Given the description of an element on the screen output the (x, y) to click on. 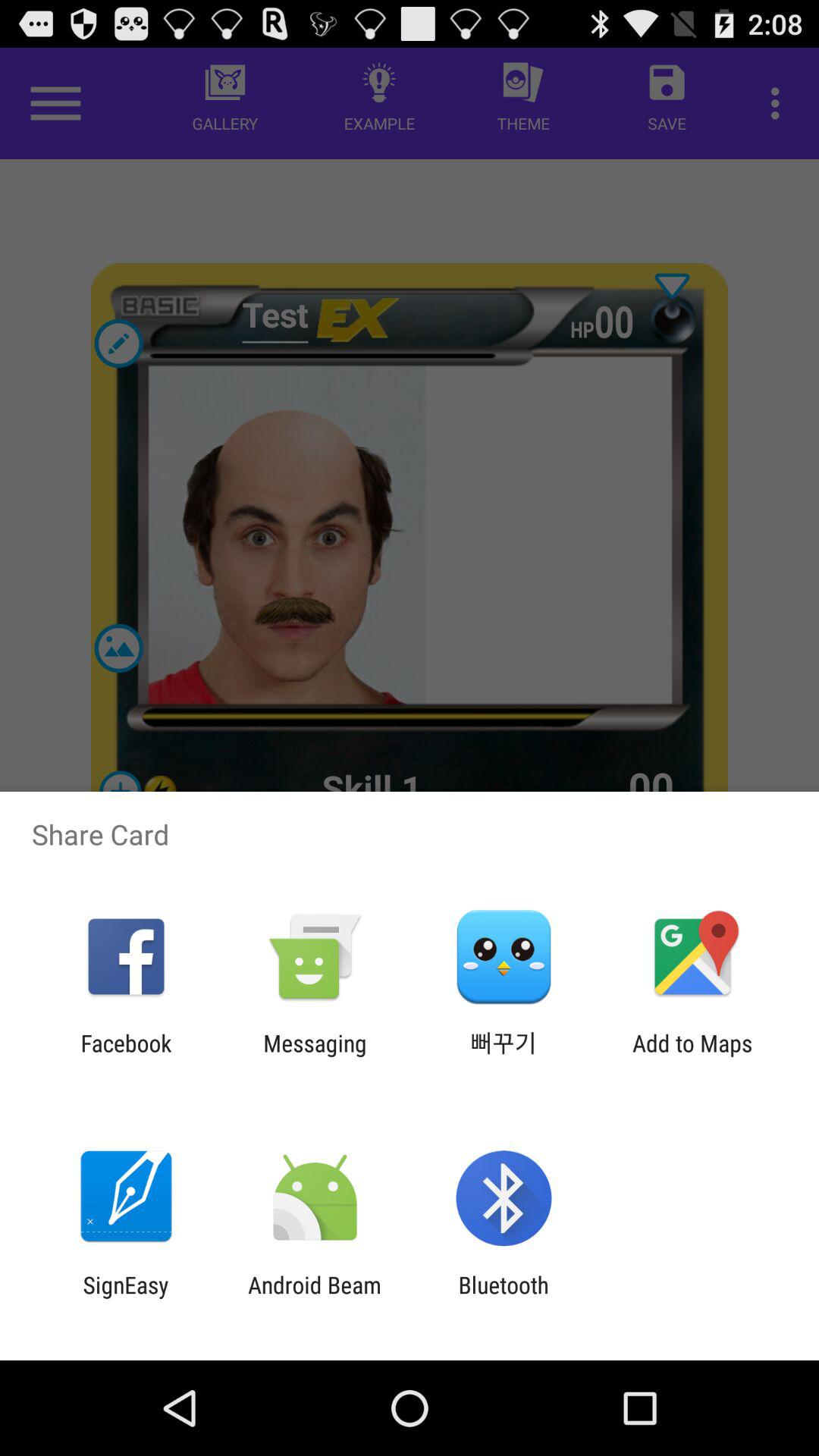
choose android beam (314, 1298)
